Given the description of an element on the screen output the (x, y) to click on. 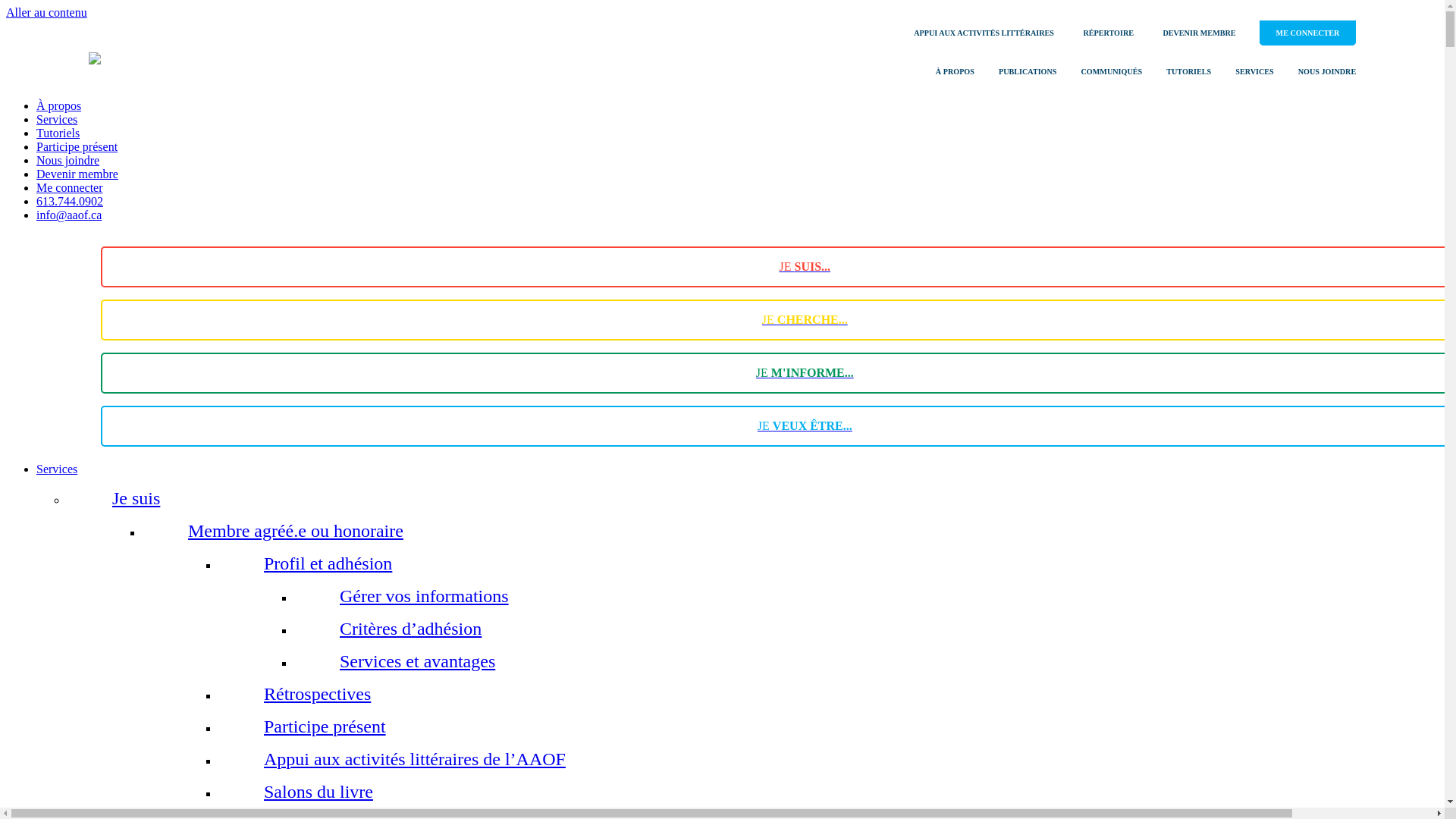
NOUS JOINDRE Element type: text (1326, 71)
SERVICES Element type: text (1254, 71)
Services et avantages Element type: text (417, 661)
ME CONNECTER Element type: text (1307, 33)
info@aaof.ca Element type: text (68, 214)
Salons du livre Element type: text (318, 791)
Nous joindre Element type: text (67, 159)
Services Element type: text (56, 468)
Aller au contenu Element type: text (46, 12)
TUTORIELS Element type: text (1188, 71)
PUBLICATIONS Element type: text (1027, 71)
Je suis Element type: text (136, 498)
Devenir membre Element type: text (77, 173)
Tutoriels Element type: text (57, 132)
DEVENIR MEMBRE Element type: text (1198, 32)
613.744.0902 Element type: text (69, 200)
Me connecter Element type: text (69, 187)
Services Element type: text (56, 118)
